Given the description of an element on the screen output the (x, y) to click on. 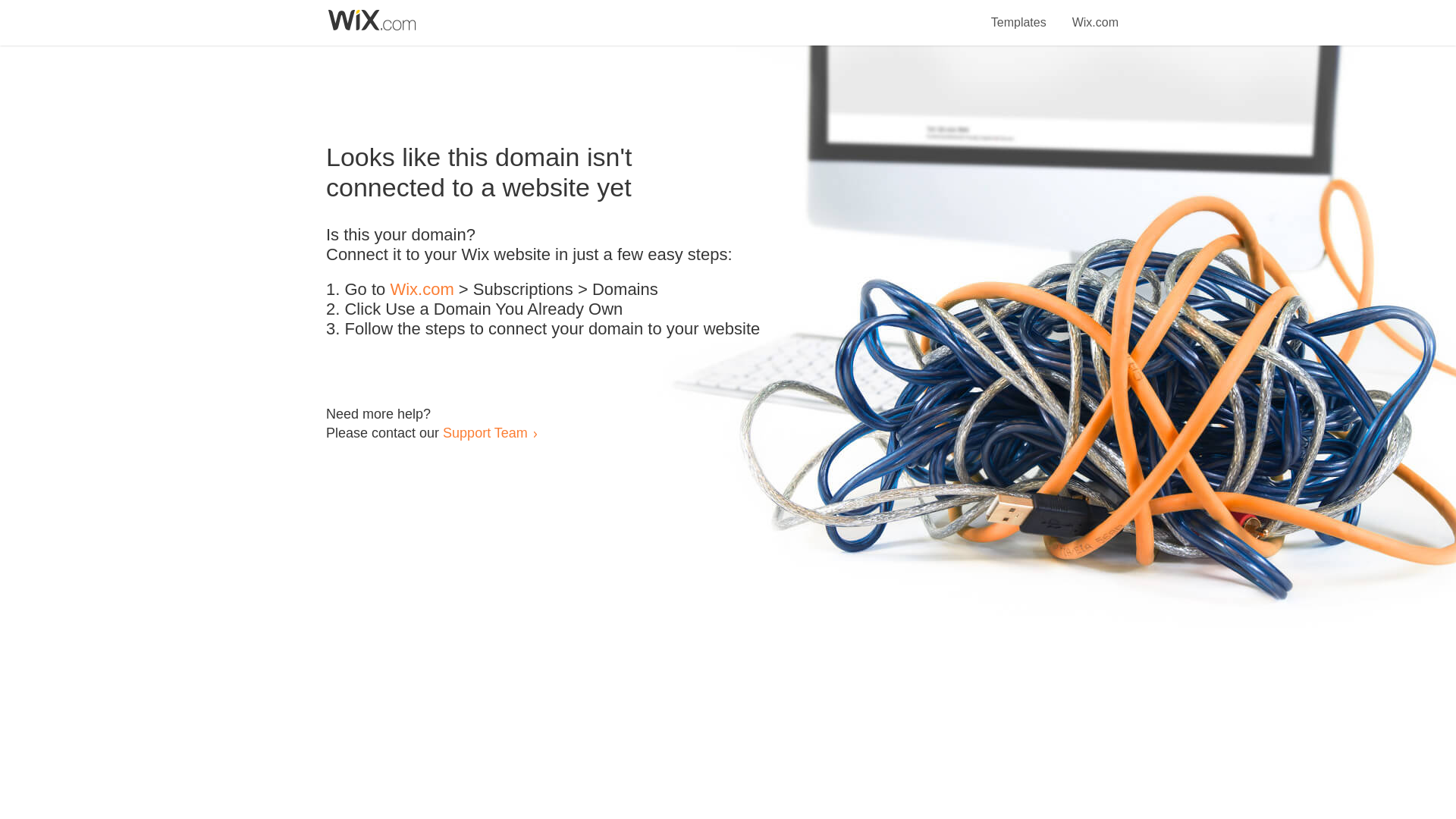
Wix.com (1095, 14)
Templates (1018, 14)
Support Team (484, 432)
Wix.com (421, 289)
